Given the description of an element on the screen output the (x, y) to click on. 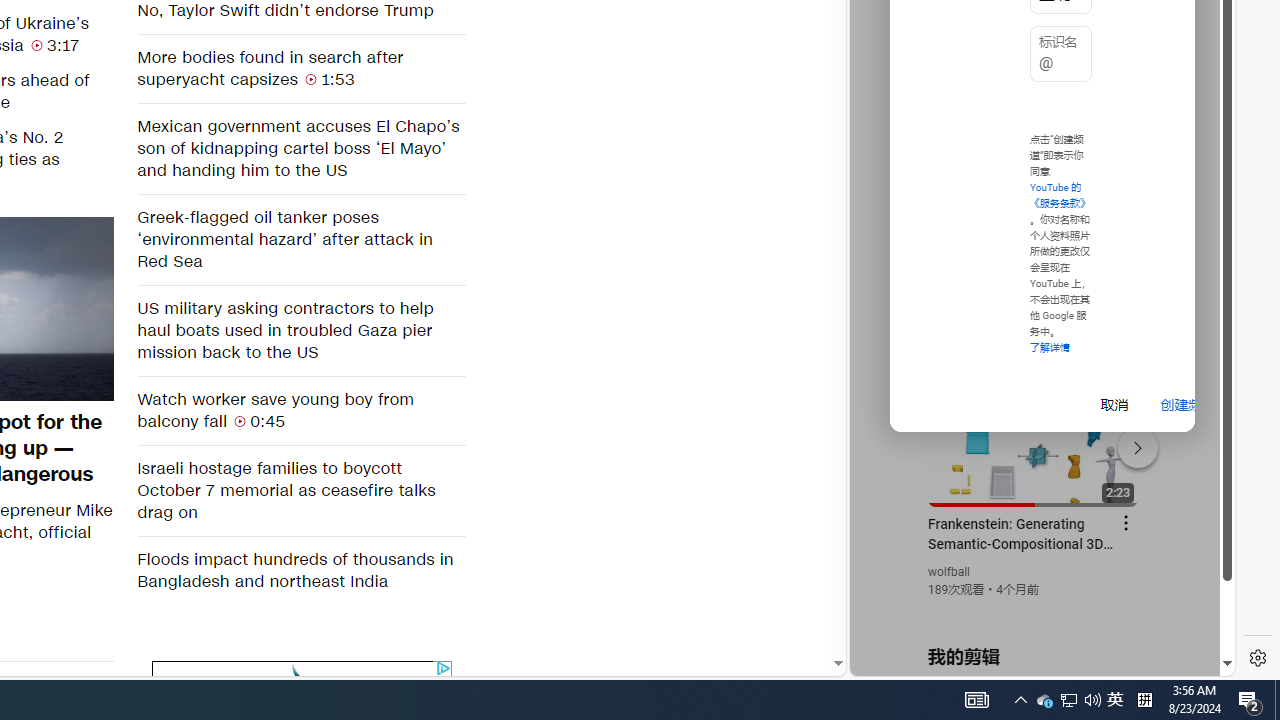
#you (1034, 439)
YouTube (1115, 699)
US[ju] (1069, 699)
Global web icon (1034, 432)
wolfball (917, 660)
Actions for this site (888, 432)
